Given the description of an element on the screen output the (x, y) to click on. 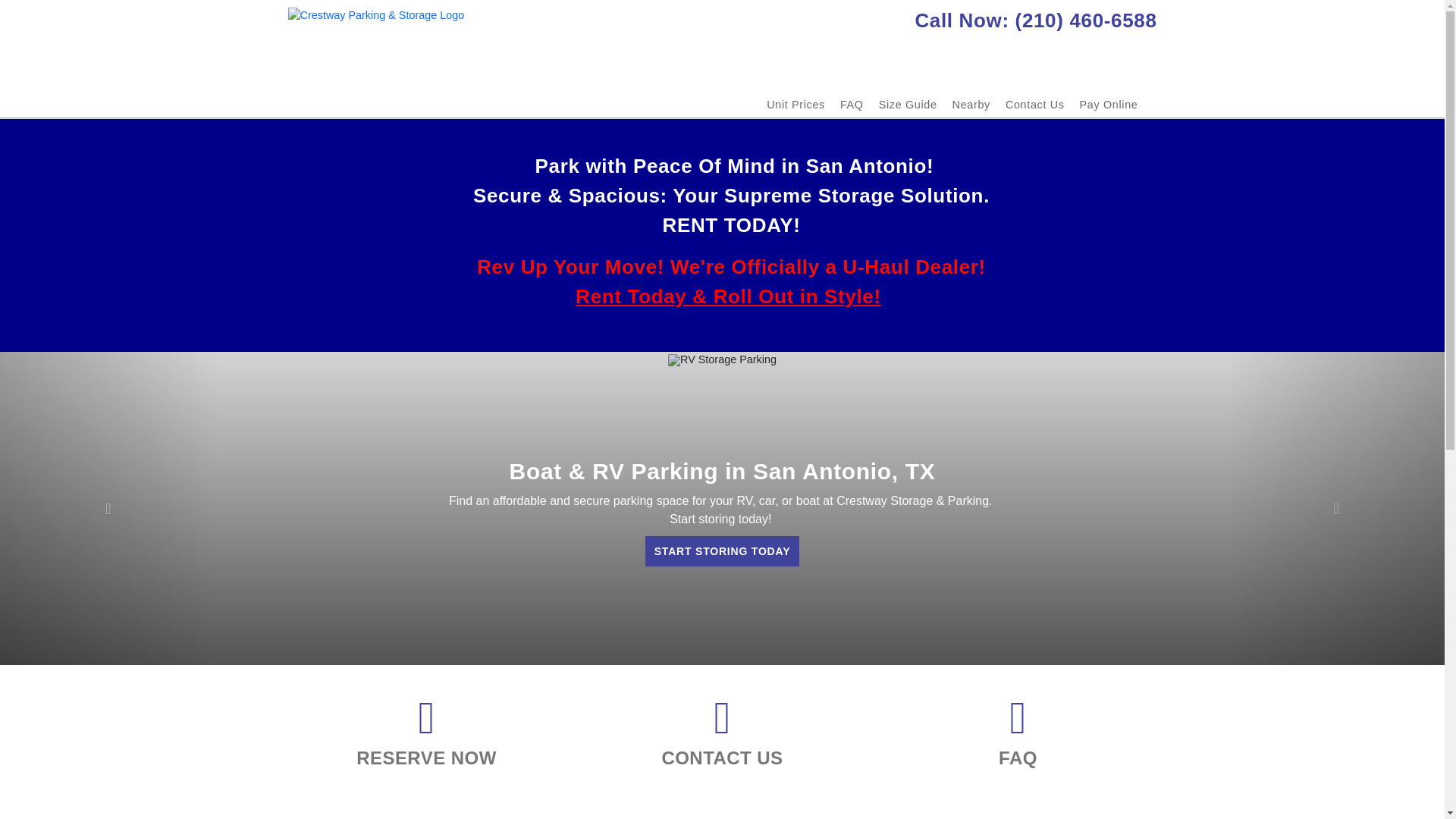
Pay Online (1109, 104)
RV Storage Parking in San Antonio, TX (722, 359)
RESERVE NOW (426, 759)
Nearby (971, 104)
RENT TODAY! (731, 224)
Size Guide (908, 104)
START STORING TODAY (722, 551)
FAQ (1017, 759)
Unit Prices (796, 104)
FAQ (851, 104)
CONTACT US (722, 759)
Contact Us (1035, 104)
